Given the description of an element on the screen output the (x, y) to click on. 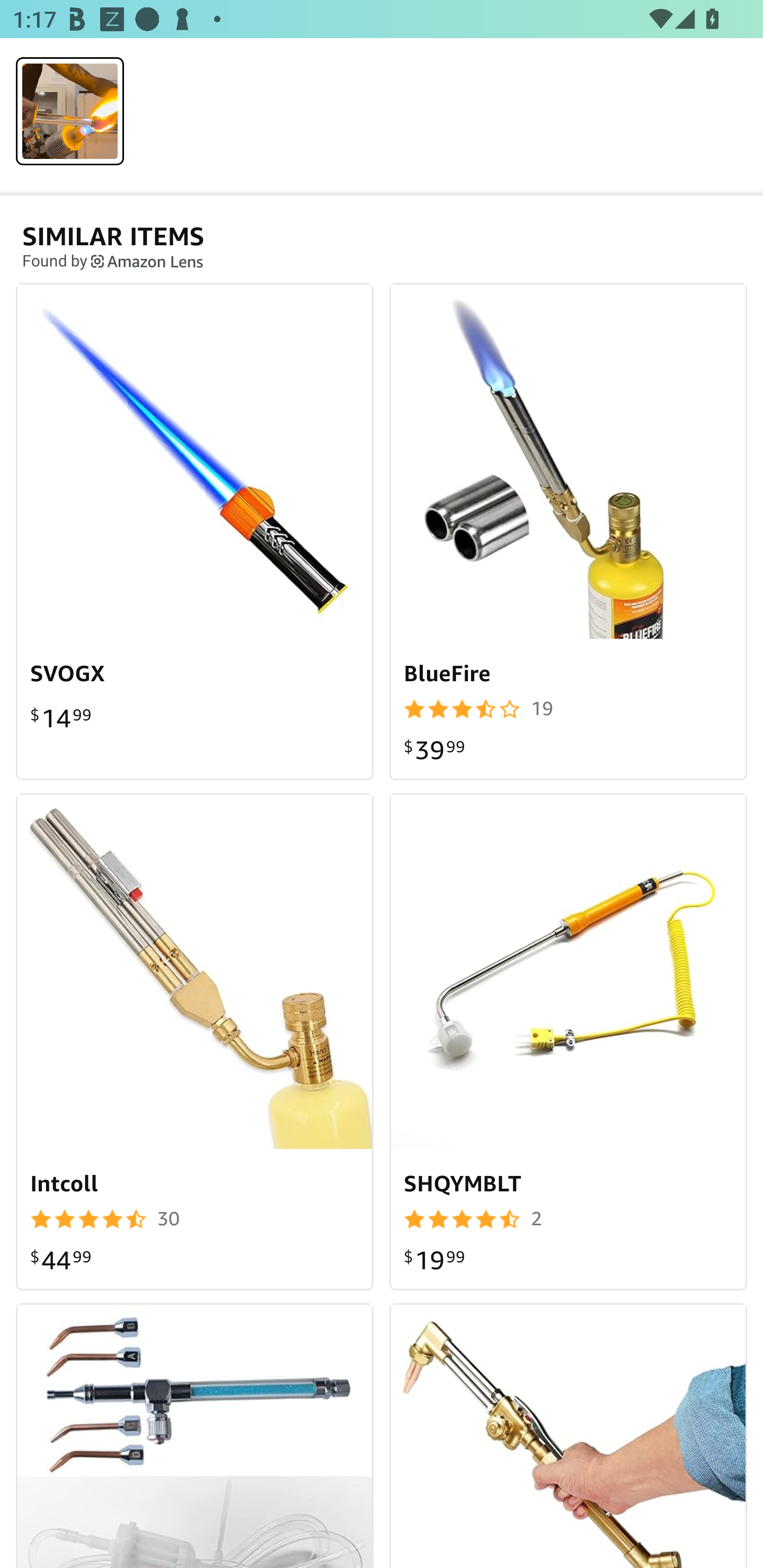
SVOGX $ 14 99 (194, 531)
BlueFire 19 $ 39 99 (567, 531)
Intcoll 30 $ 44 99 (194, 1041)
SHQYMBLT 2 $ 19 99 (567, 1041)
